Given the description of an element on the screen output the (x, y) to click on. 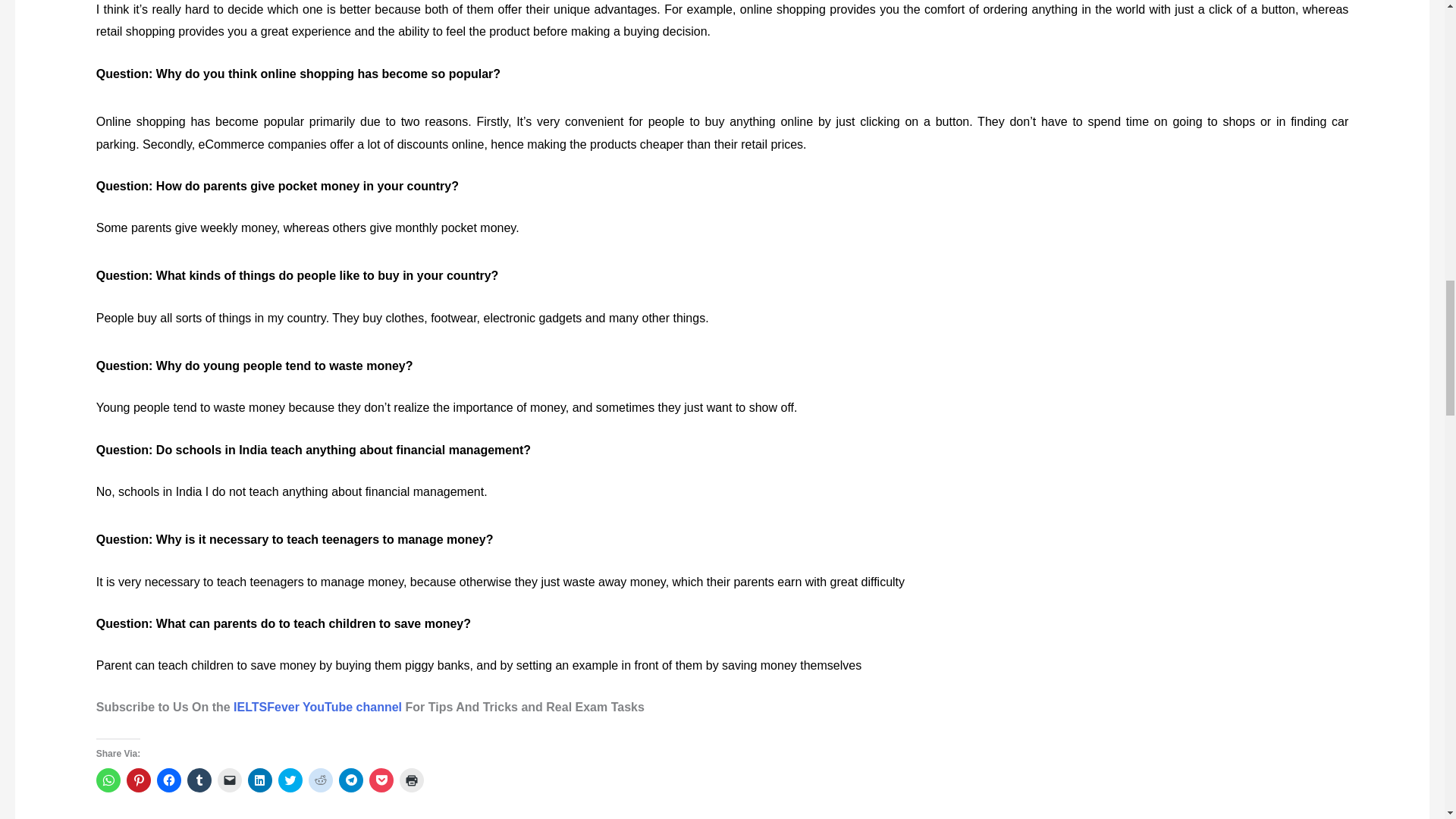
Click to share on Facebook (168, 780)
Click to share on WhatsApp (108, 780)
IELTSFever YouTube channel (316, 707)
Click to share on Pinterest (138, 780)
